Given the description of an element on the screen output the (x, y) to click on. 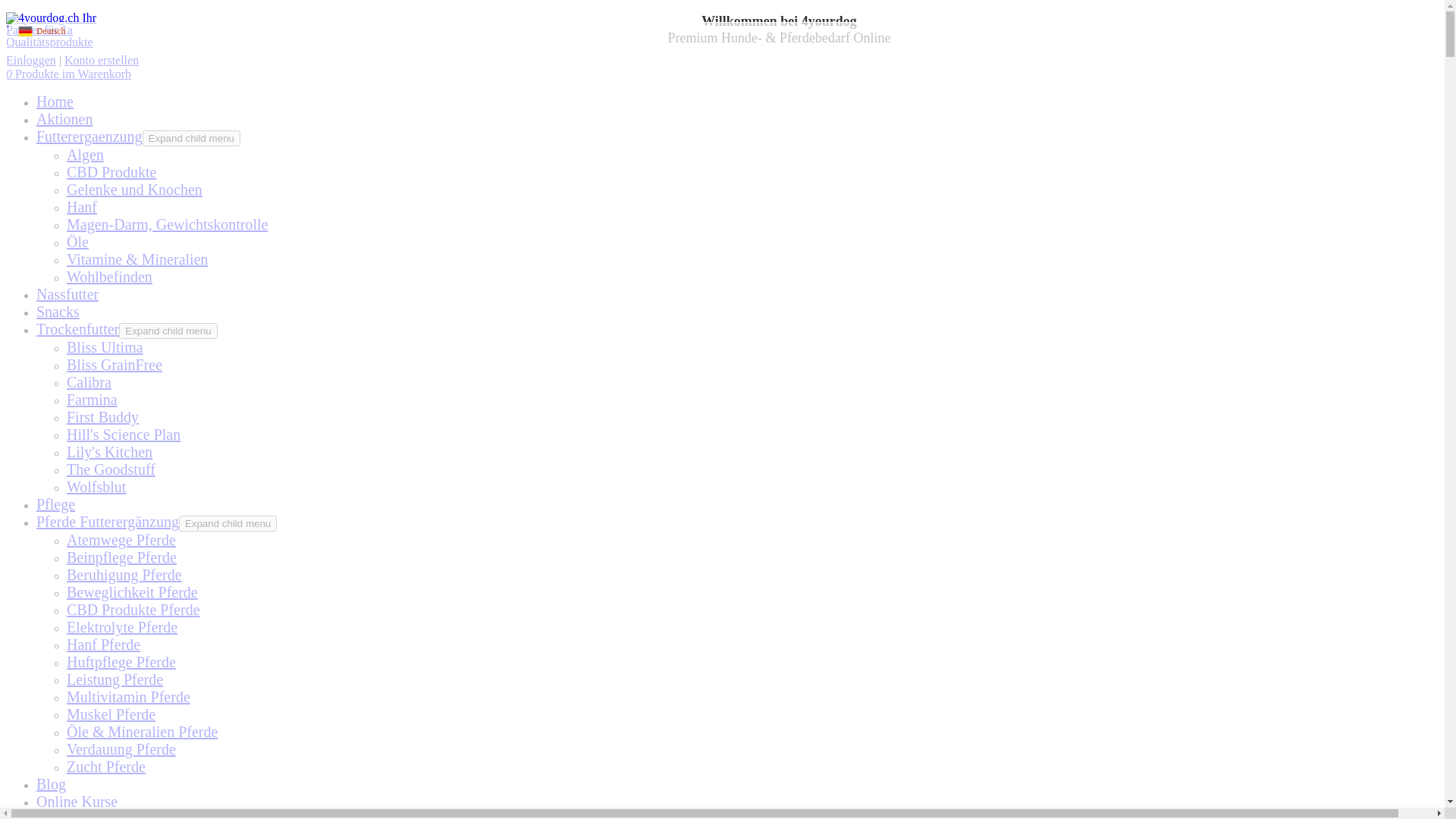
Lily's Kitchen Element type: text (109, 451)
Verdauung Pferde Element type: text (120, 748)
Leistung Pferde Element type: text (114, 679)
CBD Produkte Pferde Element type: text (133, 609)
Elektrolyte Pferde Element type: text (121, 626)
Vitamine & Mineralien Element type: text (137, 259)
Expand child menu Element type: text (167, 330)
Farmina Element type: text (91, 399)
Nassfutter Element type: text (67, 293)
Muskel Pferde Element type: text (110, 714)
Zucht Pferde Element type: text (105, 766)
Expand child menu Element type: text (227, 523)
Bliss GrainFree Element type: text (114, 364)
Wohlbefinden Element type: text (109, 276)
Multivitamin Pferde Element type: text (128, 696)
The Goodstuff Element type: text (110, 469)
Gelenke und Knochen Element type: text (134, 189)
Magen-Darm, Gewichtskontrolle Element type: text (166, 224)
Pflege Element type: text (55, 503)
Wolfsblut Element type: text (95, 486)
Bliss Ultima Element type: text (104, 346)
Einloggen Element type: text (31, 59)
0 Produkte im Warenkorb Element type: text (68, 73)
Calibra Element type: text (88, 381)
Beruhigung Pferde Element type: text (124, 574)
Blog Element type: text (50, 783)
CBD Produkte Element type: text (111, 171)
Aktionen Element type: text (64, 118)
Expand child menu Element type: text (191, 138)
Huftpflege Pferde Element type: text (120, 661)
TrockenfutterExpand child menu Element type: text (126, 328)
Home Element type: text (54, 101)
Snacks Element type: text (57, 311)
Algen Element type: text (84, 154)
Beweglichkeit Pferde Element type: text (131, 591)
Atemwege Pferde Element type: text (120, 539)
First Buddy Element type: text (102, 416)
FutterergaenzungExpand child menu Element type: text (138, 136)
Konto erstellen Element type: text (101, 59)
4yourdog Element type: hover (62, 30)
Hanf Element type: text (81, 206)
Hill's Science Plan Element type: text (123, 434)
Online Kurse Element type: text (76, 801)
Beinpflege Pferde Element type: text (121, 557)
Hanf Pferde Element type: text (103, 644)
